Given the description of an element on the screen output the (x, y) to click on. 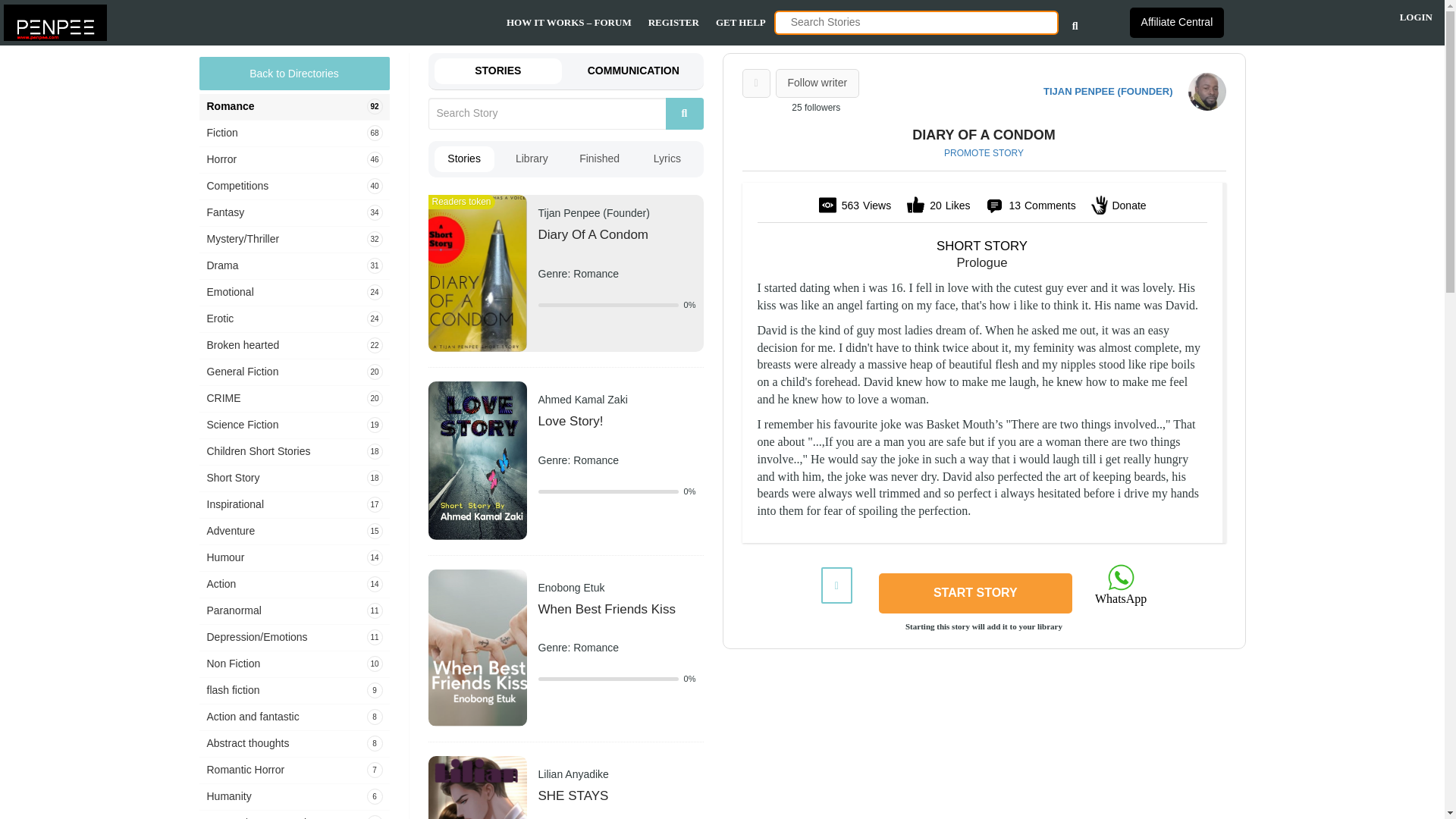
LOGIN (1415, 19)
When Best Friends Kiss (476, 646)
Affiliate Central (1176, 22)
REGISTER (673, 23)
Diary Of A Condom (476, 272)
Love Story! (476, 459)
GET HELP (740, 23)
